Given the description of an element on the screen output the (x, y) to click on. 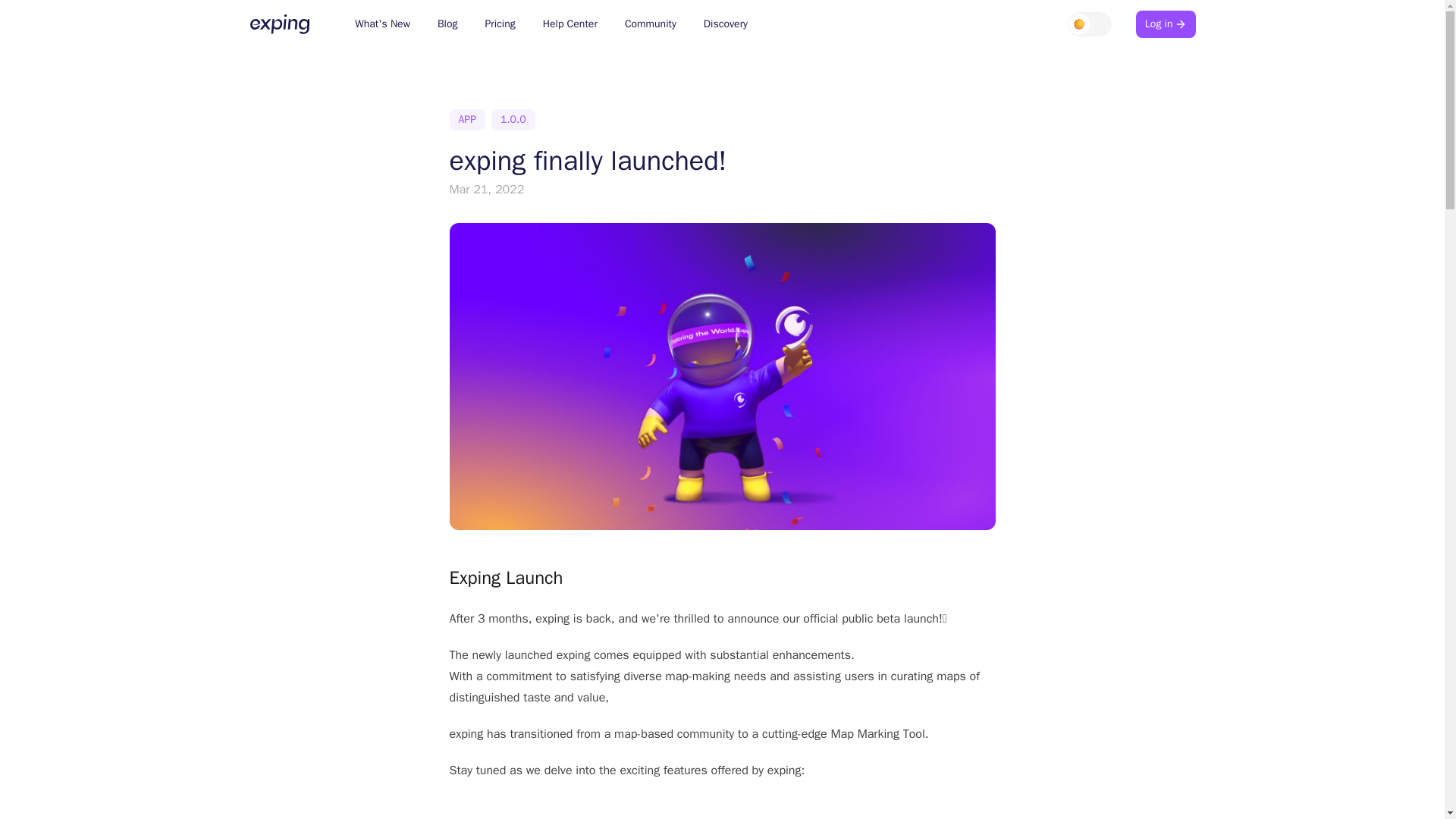
Log in (1165, 23)
Blog (447, 24)
Pricing (500, 24)
What's New (382, 24)
Toggle theme (1089, 24)
Community (650, 24)
Help Center (570, 24)
Discovery (725, 24)
